Given the description of an element on the screen output the (x, y) to click on. 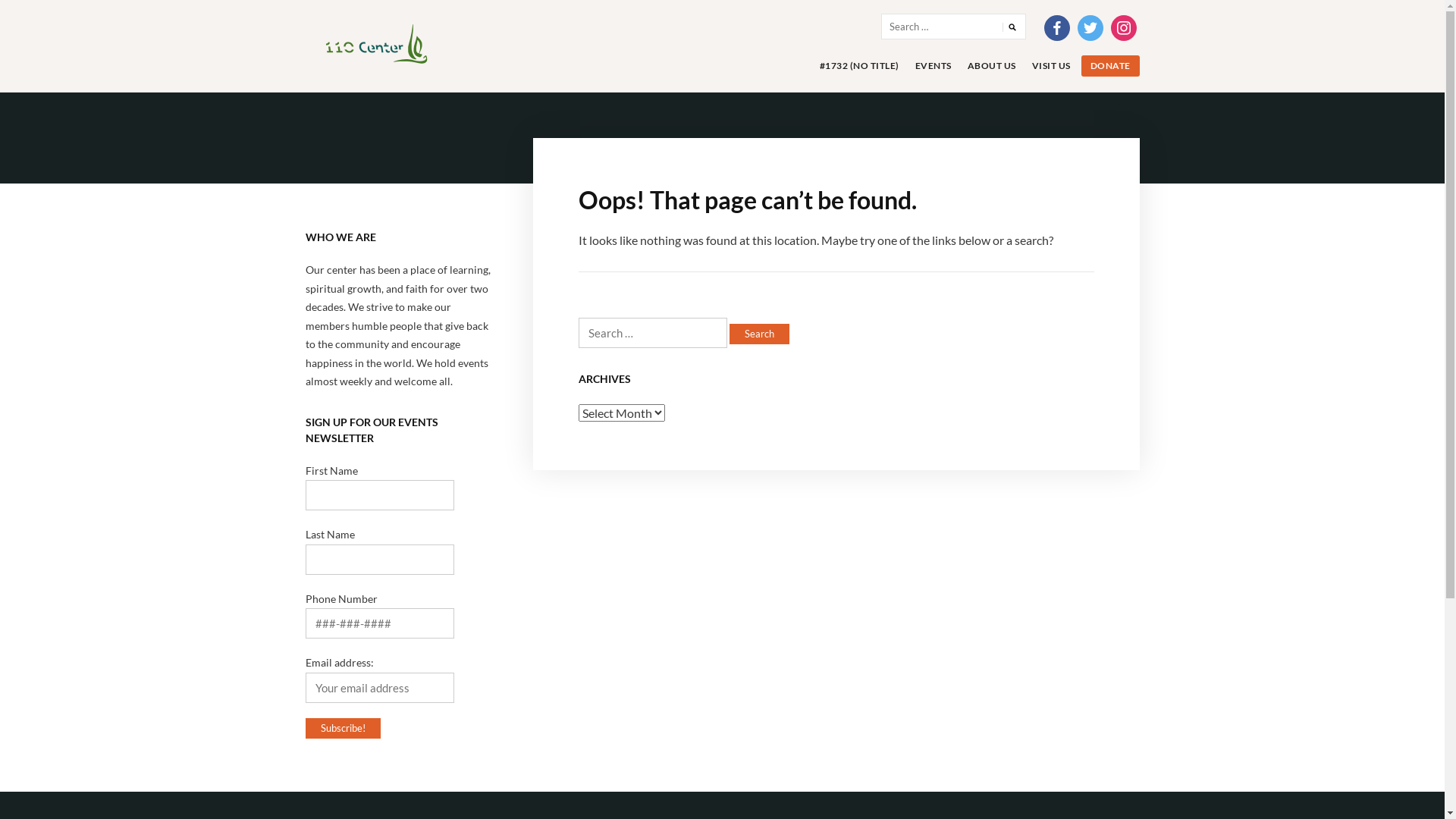
DONATE Element type: text (1110, 64)
Search Element type: text (759, 333)
ABOUT US Element type: text (991, 65)
facebook Element type: text (1056, 26)
VISIT US Element type: text (1050, 65)
instagram Element type: text (1122, 26)
EVENTS Element type: text (932, 65)
twitter Element type: text (1089, 26)
Subscribe! Element type: text (341, 727)
Search Element type: text (1012, 26)
#1732 (NO TITLE) Element type: text (858, 65)
